Given the description of an element on the screen output the (x, y) to click on. 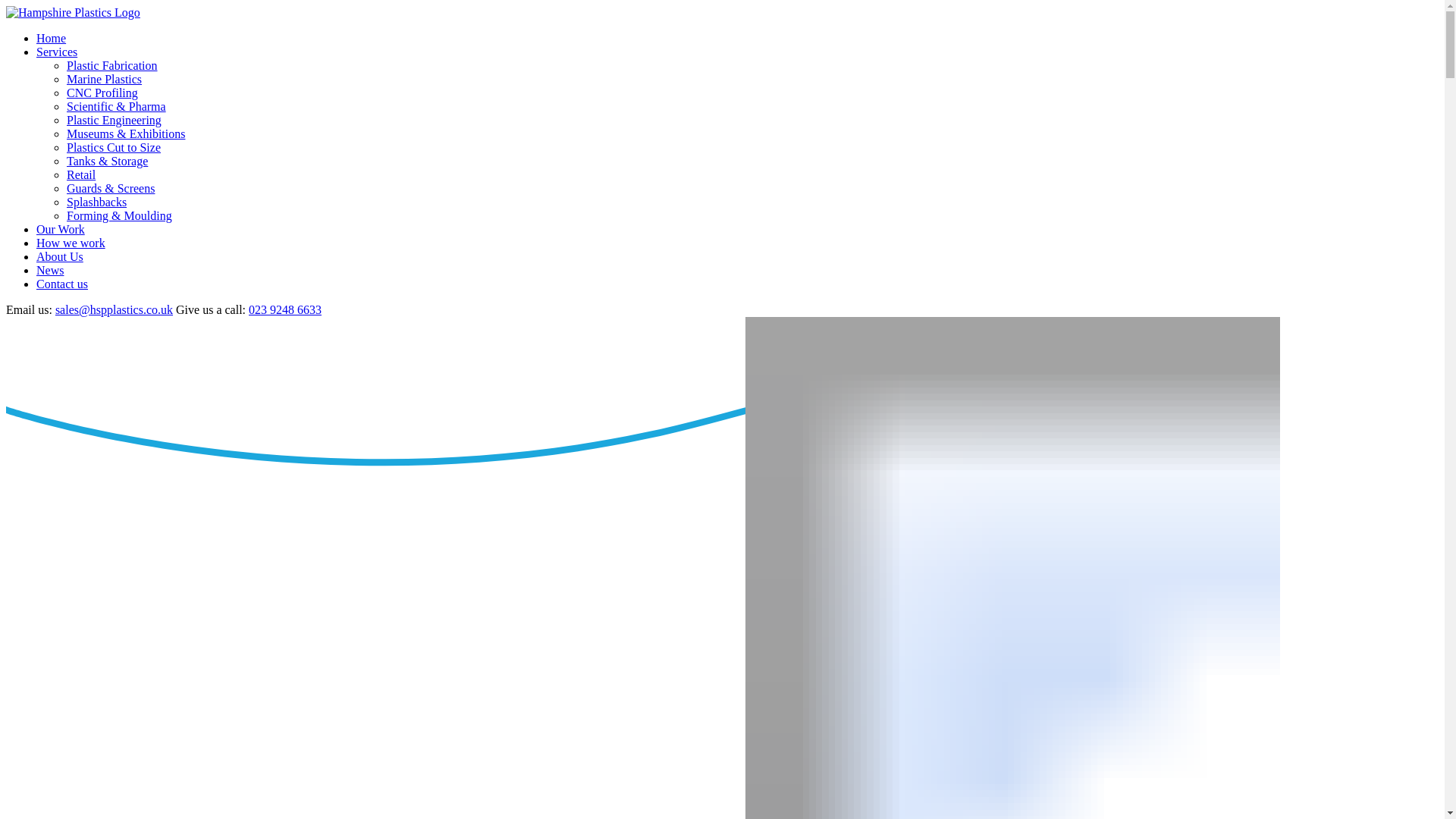
Hampshire Plastics (72, 11)
About Us (59, 256)
Plastic Fabrication (111, 65)
Plastic Engineering (113, 119)
023 9248 6633 (284, 309)
Plastics Cut to Size (113, 146)
Marine Plastics (103, 78)
How we work (70, 242)
Services (56, 51)
Home (50, 38)
